Given the description of an element on the screen output the (x, y) to click on. 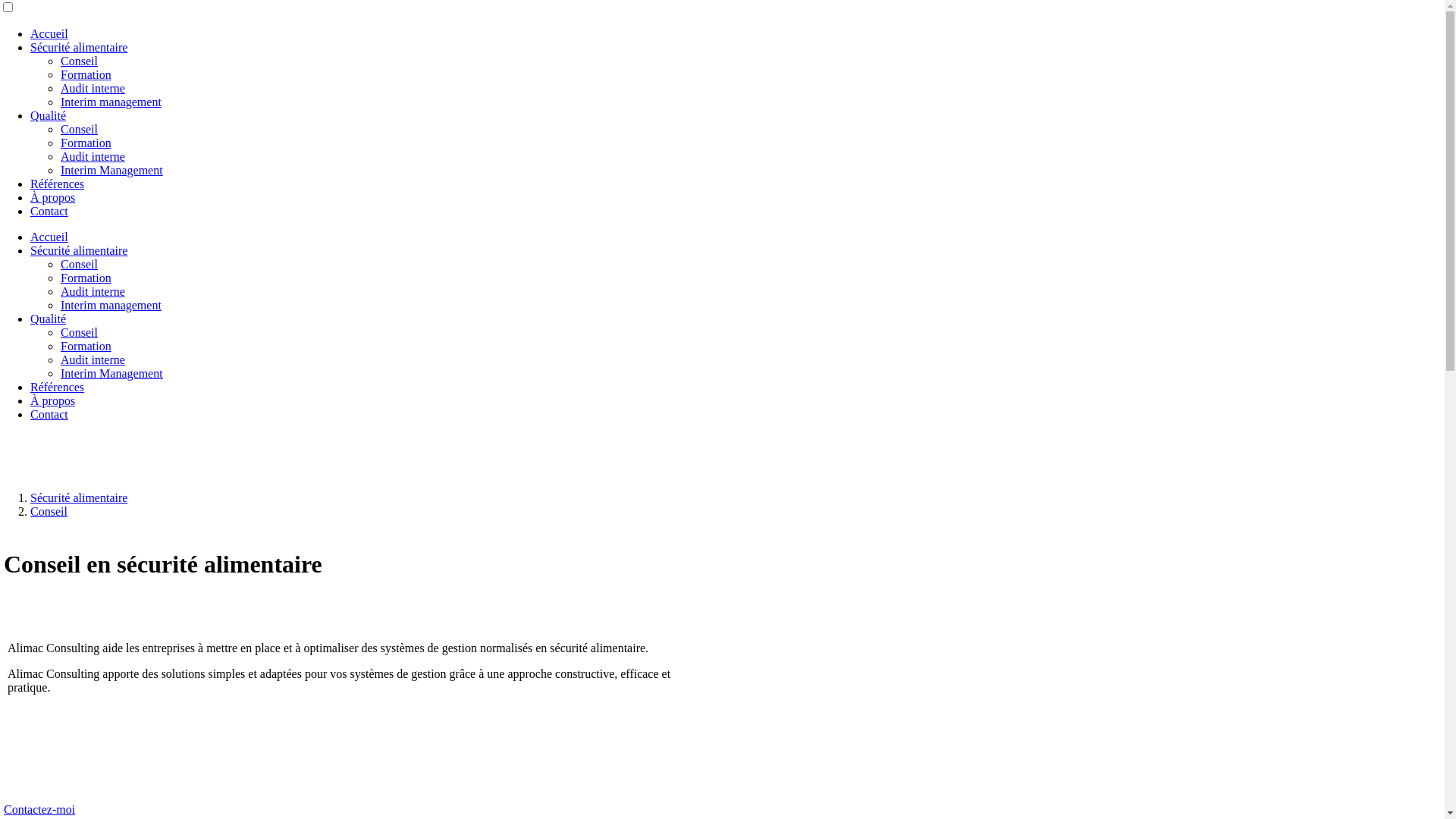
Audit interne Element type: text (92, 291)
Conseil Element type: text (78, 332)
Audit interne Element type: text (92, 156)
Formation Element type: text (85, 142)
Conseil Element type: text (78, 263)
Accueil Element type: text (49, 236)
Interim Management Element type: text (111, 373)
Contact Element type: text (49, 210)
Conseil Element type: text (78, 60)
Formation Element type: text (85, 277)
Contactez-moi Element type: text (39, 809)
Audit interne Element type: text (92, 359)
Interim management Element type: text (110, 101)
Formation Element type: text (85, 345)
Conseil Element type: text (78, 128)
Interim Management Element type: text (111, 169)
Conseil Element type: text (48, 511)
Audit interne Element type: text (92, 87)
Formation Element type: text (85, 74)
Accueil Element type: text (49, 33)
Interim management Element type: text (110, 304)
Contact Element type: text (49, 413)
